Given the description of an element on the screen output the (x, y) to click on. 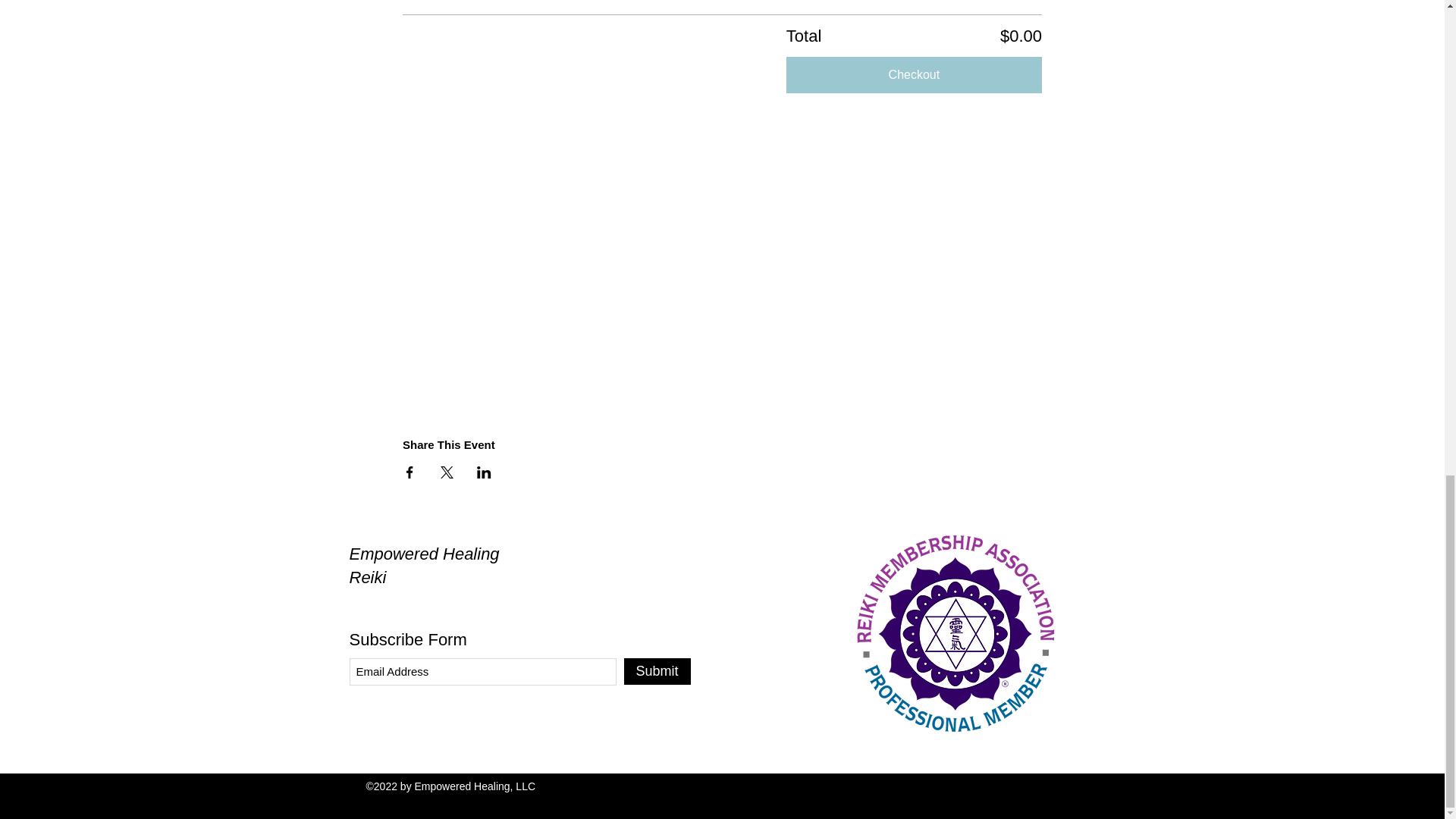
Checkout (914, 74)
Empowered Healing Reiki (424, 565)
Submit (656, 671)
